Given the description of an element on the screen output the (x, y) to click on. 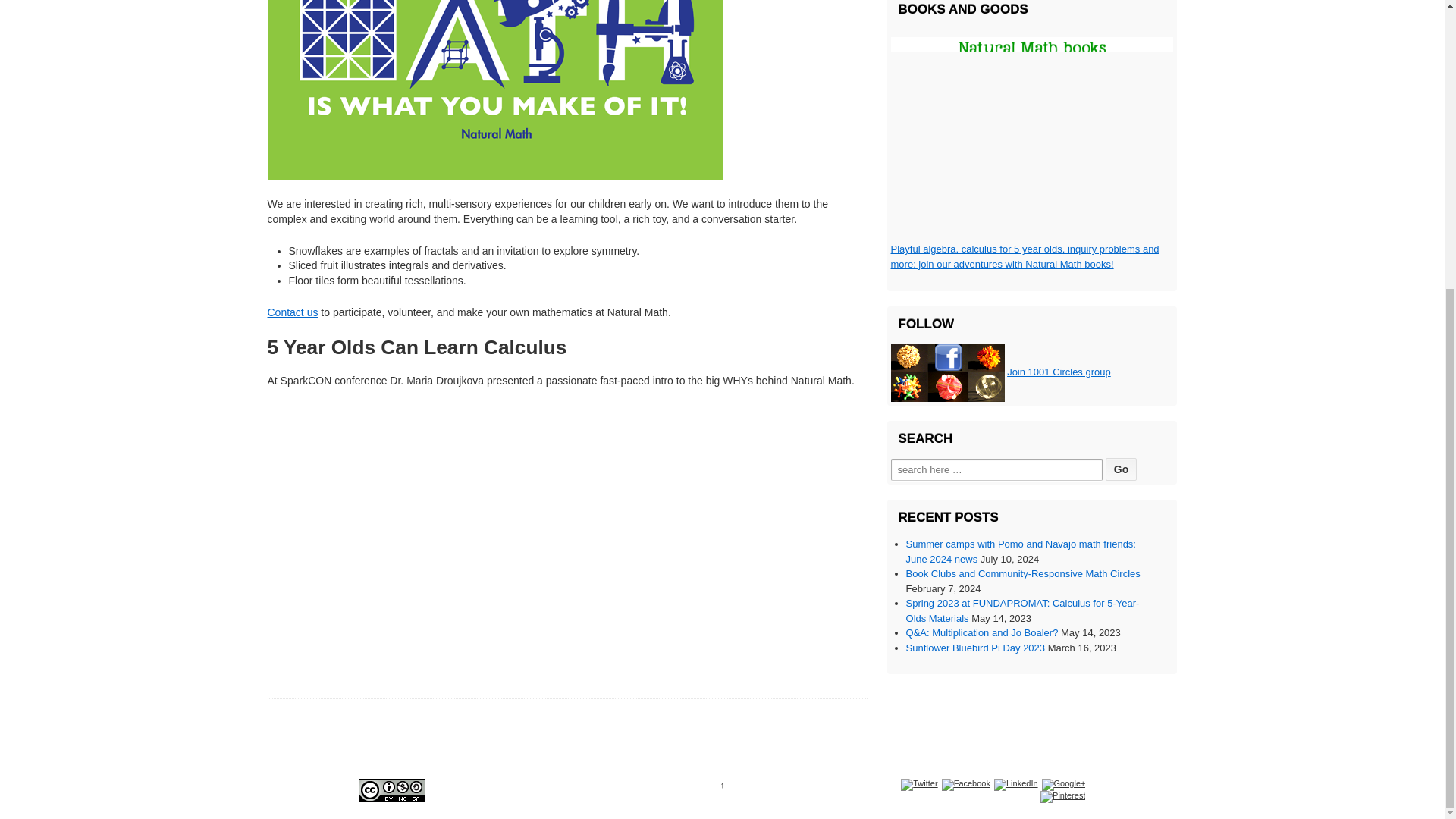
Book Clubs and Community-Responsive Math Circles (1022, 573)
Go (1121, 468)
Contact us (291, 312)
Go (1121, 468)
Join 1001 Circles group (1058, 371)
